Given the description of an element on the screen output the (x, y) to click on. 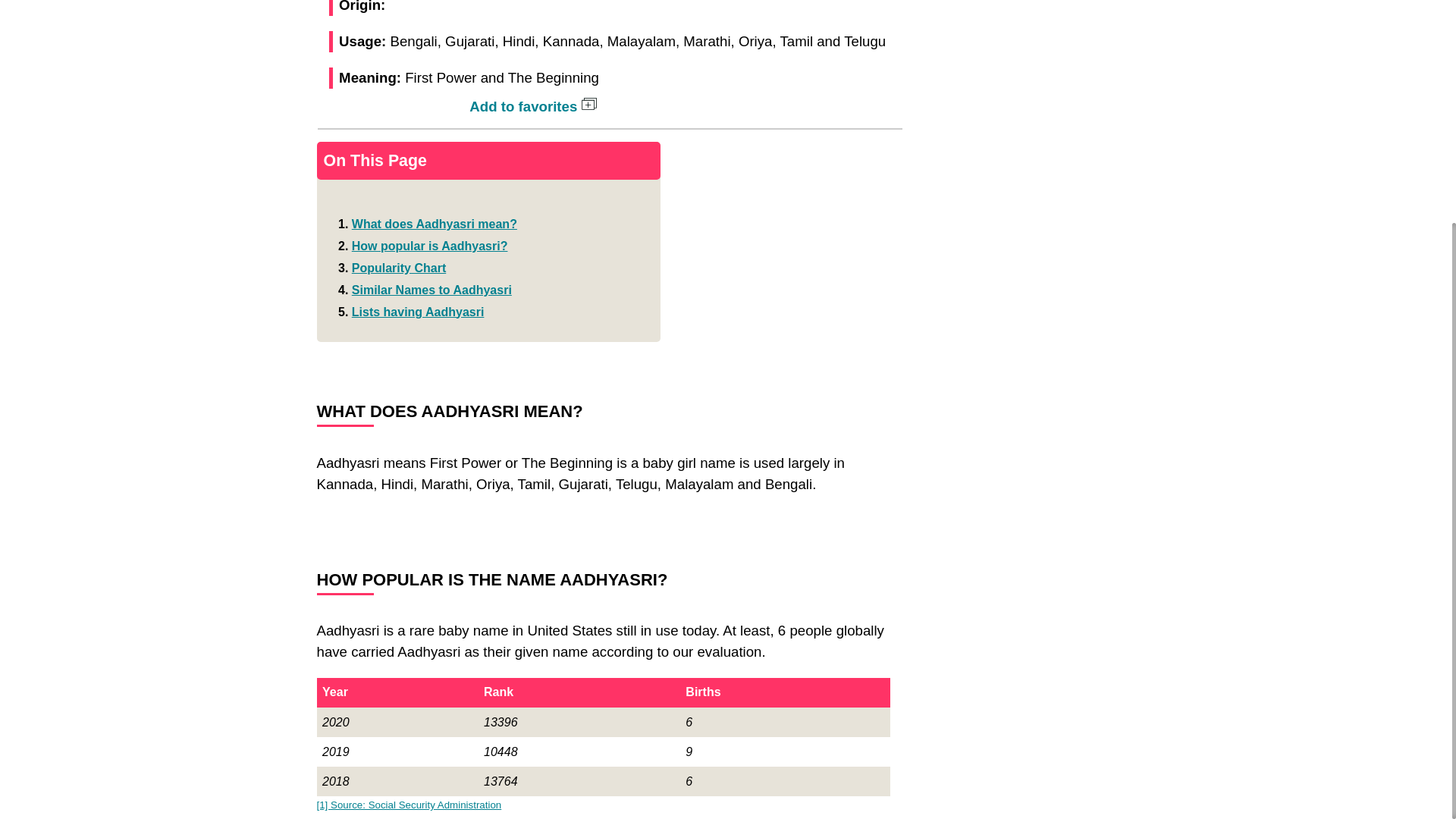
Similar Names to Aadhyasri (432, 289)
Lists having Aadhyasri (418, 311)
What does Aadhyasri mean? (434, 223)
Popularity Chart (398, 267)
How popular is Aadhyasri? (430, 245)
